Given the description of an element on the screen output the (x, y) to click on. 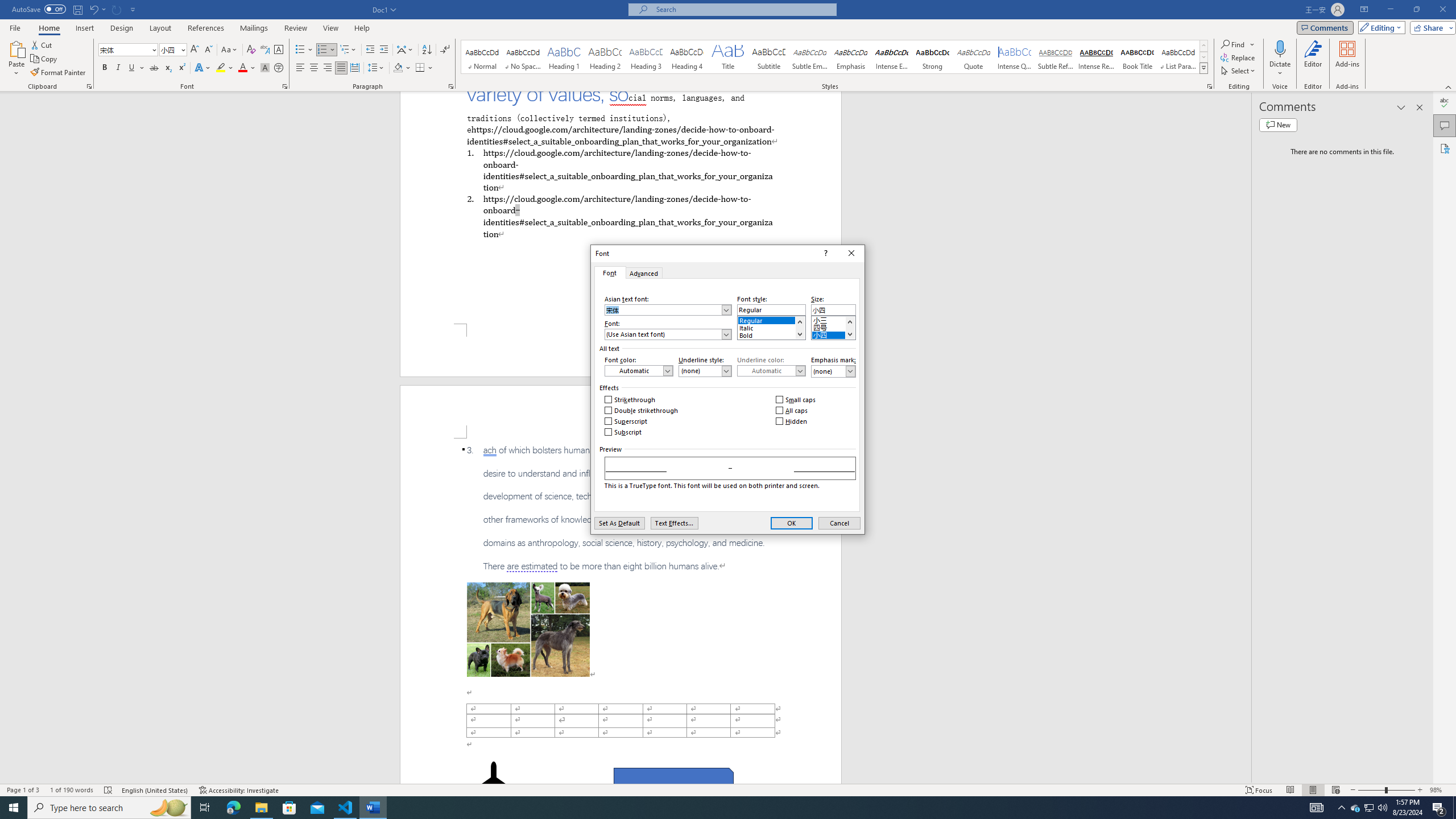
Task Pane Options (1400, 107)
Advanced (643, 272)
Zoom Out (1371, 790)
Font Size (172, 49)
Phonetic Guide... (264, 49)
Text Effects and Typography (202, 67)
1. (620, 169)
Intense Emphasis (891, 56)
Find (1232, 44)
Cut (42, 44)
Quote (973, 56)
Replace... (1237, 56)
Title (727, 56)
